Given the description of an element on the screen output the (x, y) to click on. 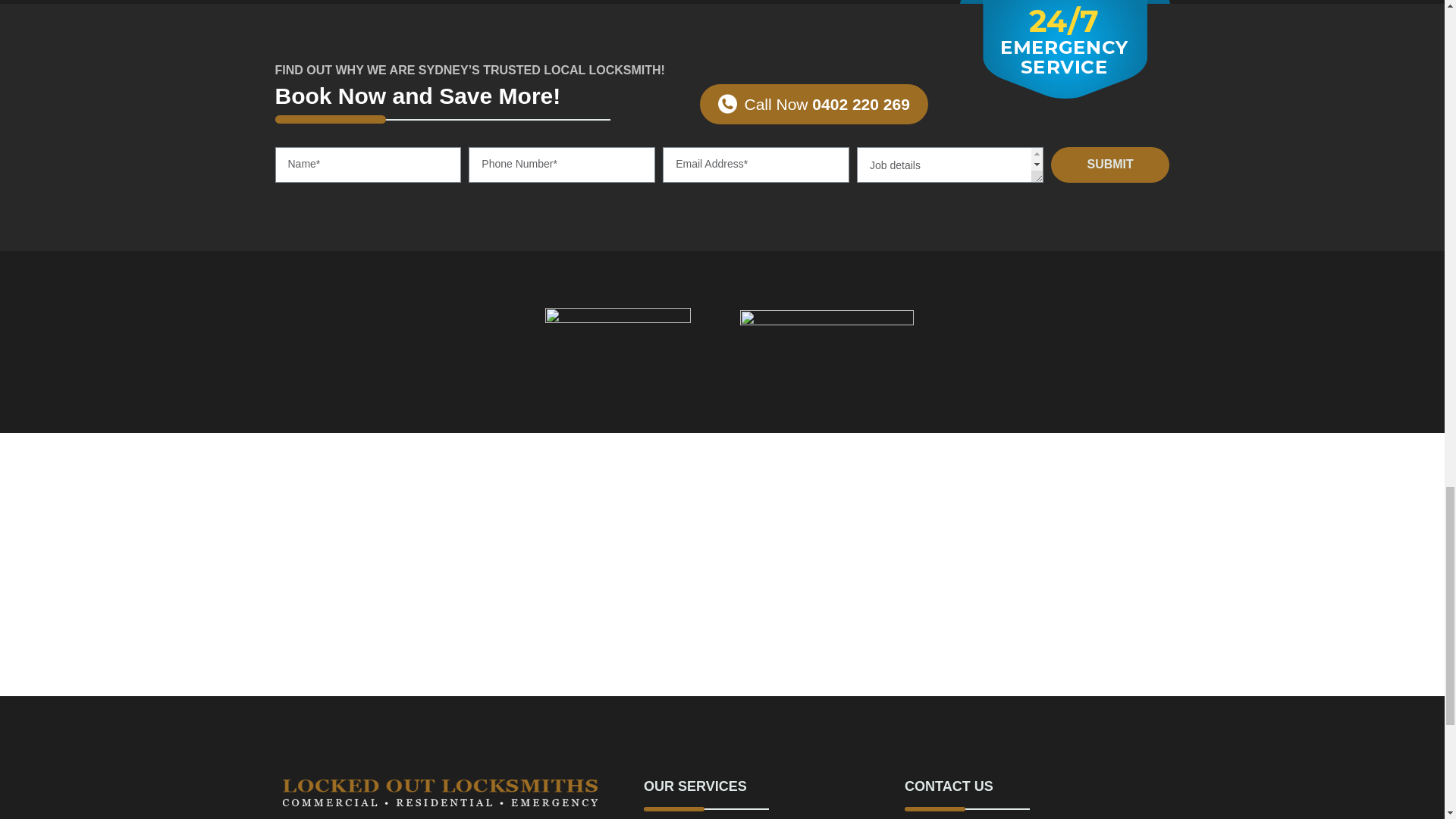
SUBMIT (1110, 164)
Call Now 0402 220 269 (812, 104)
